Given the description of an element on the screen output the (x, y) to click on. 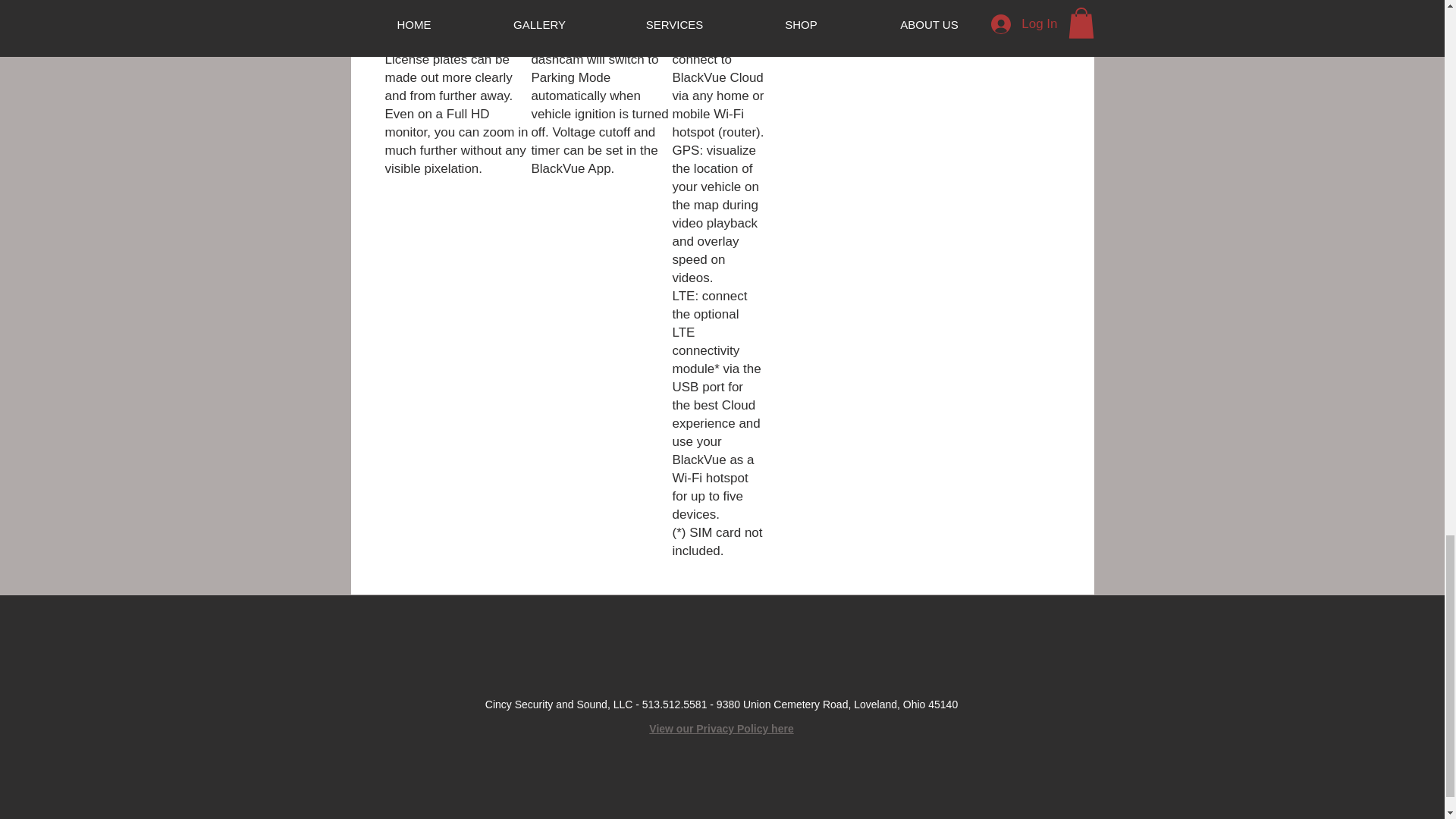
View our Privacy Policy here (721, 728)
